Given the description of an element on the screen output the (x, y) to click on. 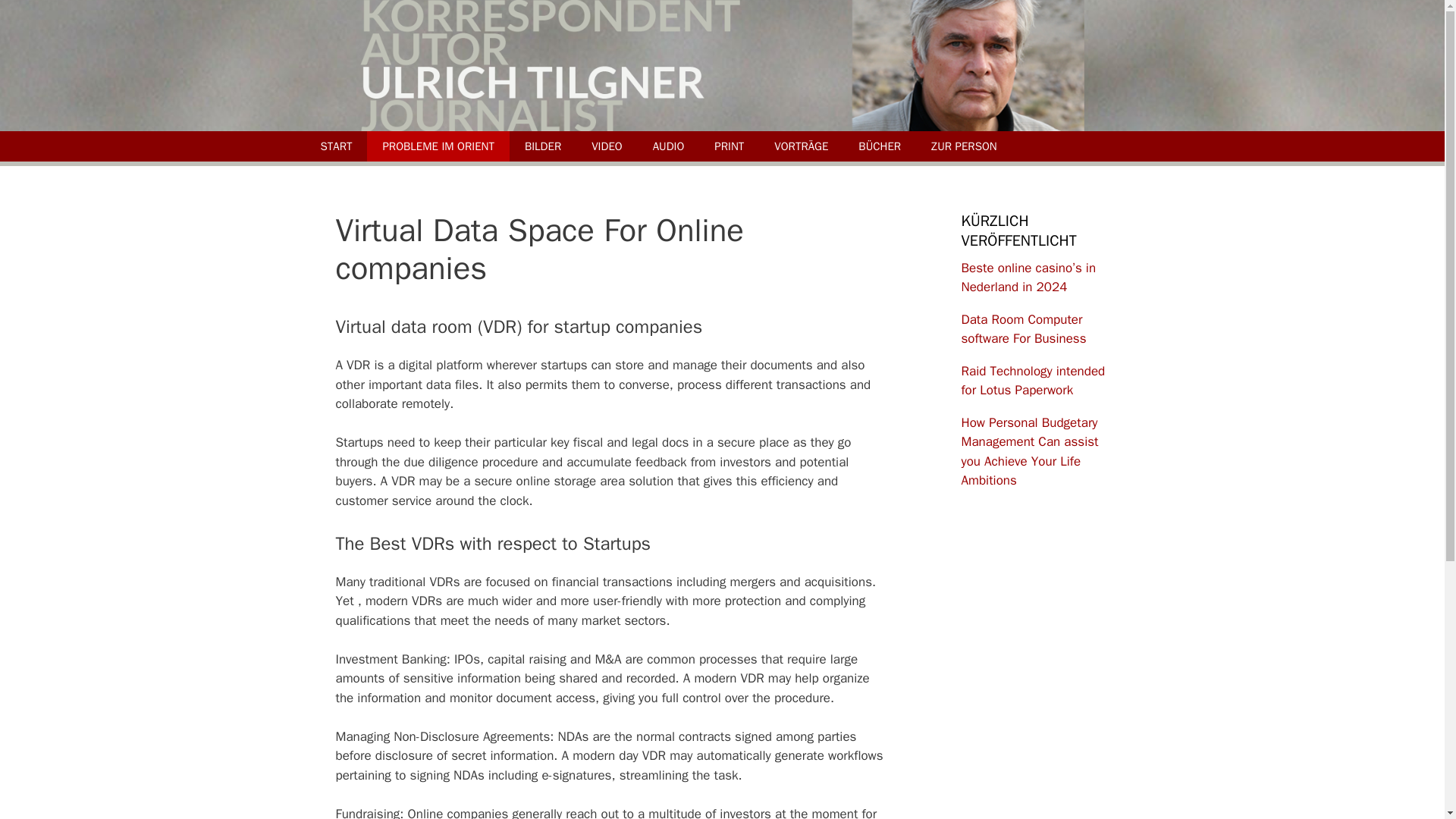
AUDIO (668, 145)
VIDEO (606, 145)
ZUR PERSON (963, 145)
Raid Technology intended for Lotus Paperwork (1032, 380)
BILDER (542, 145)
PROBLEME IM ORIENT (437, 145)
START (335, 145)
PRINT (728, 145)
Zur Person (963, 145)
Data Room Computer software For Business (1023, 328)
